Given the description of an element on the screen output the (x, y) to click on. 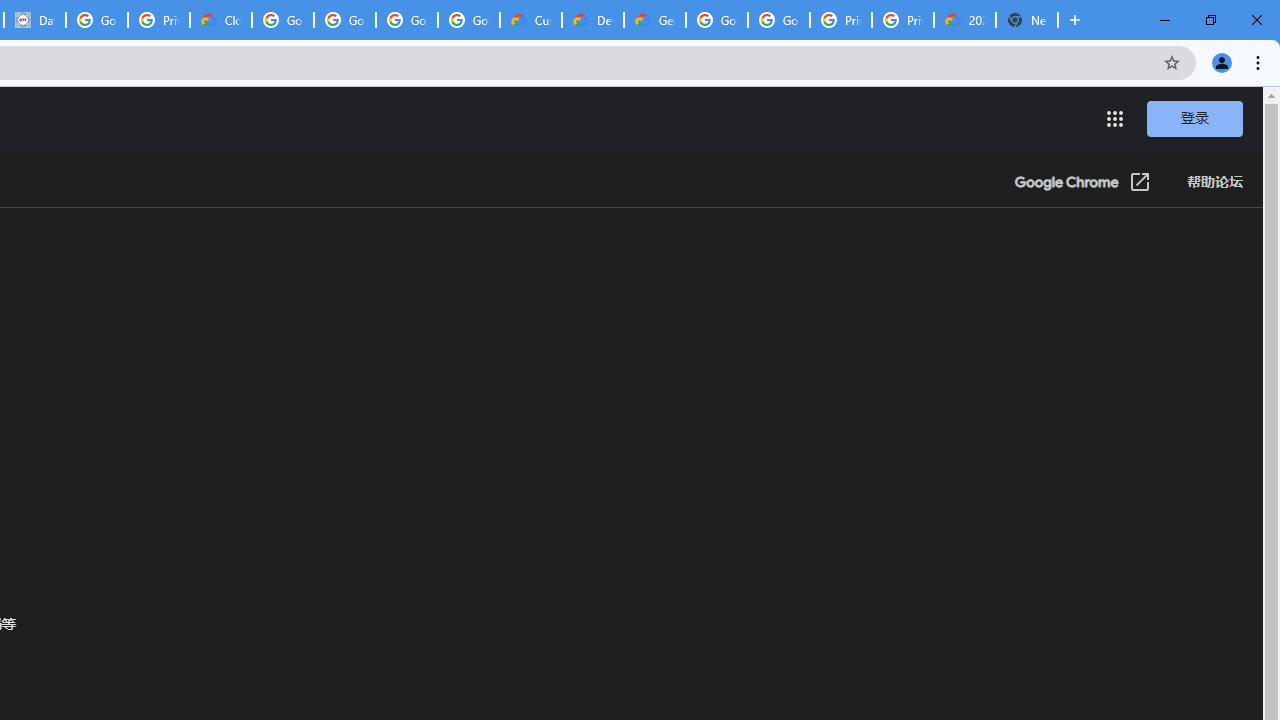
Google Cloud Platform (716, 20)
New Tab (1026, 20)
Google Cloud Platform (778, 20)
